Given the description of an element on the screen output the (x, y) to click on. 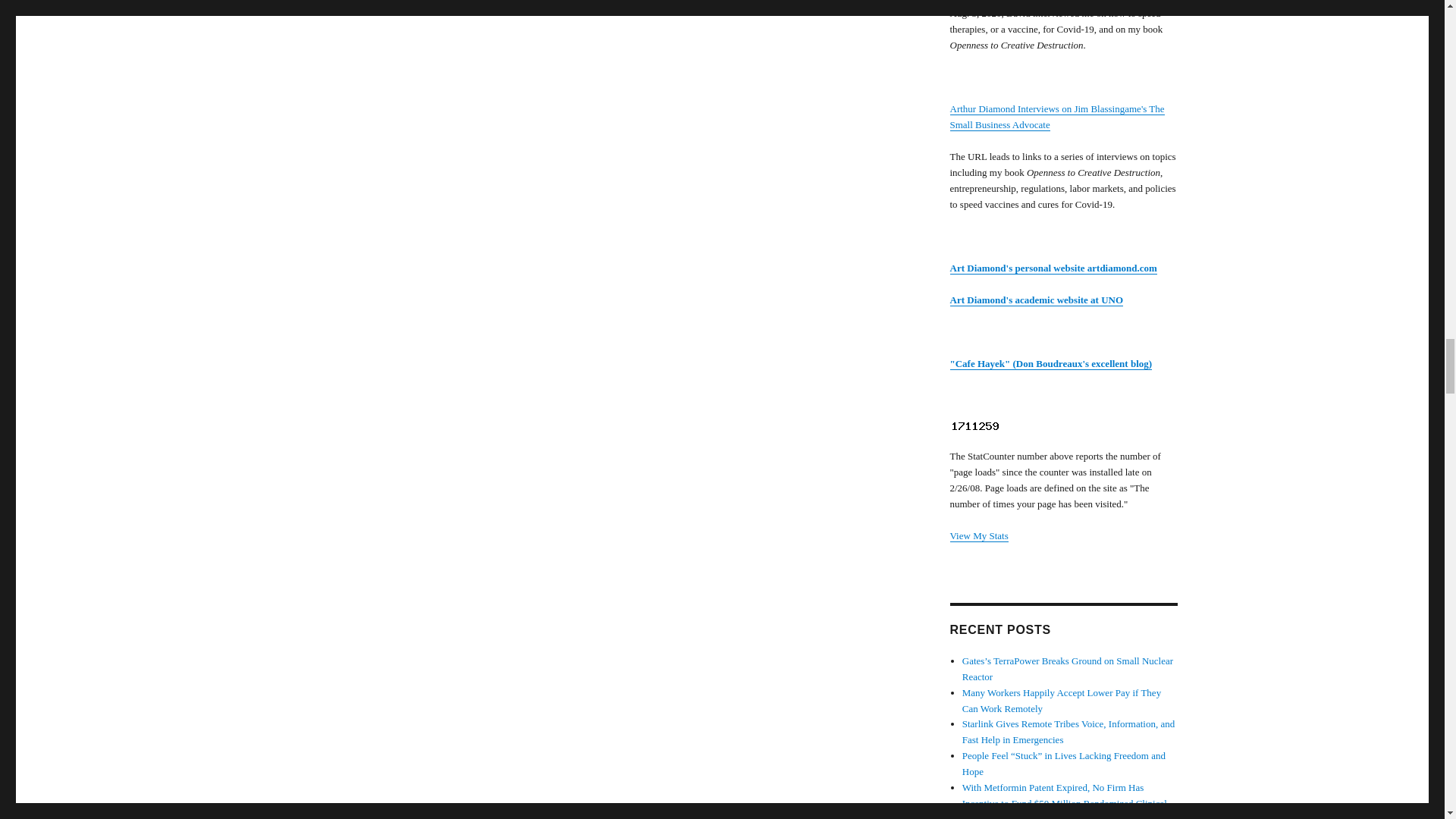
View My Stats (978, 535)
Art Diamond's personal website artdiamond.com (1052, 267)
Art Diamond's academic website at UNO (1035, 299)
